Given the description of an element on the screen output the (x, y) to click on. 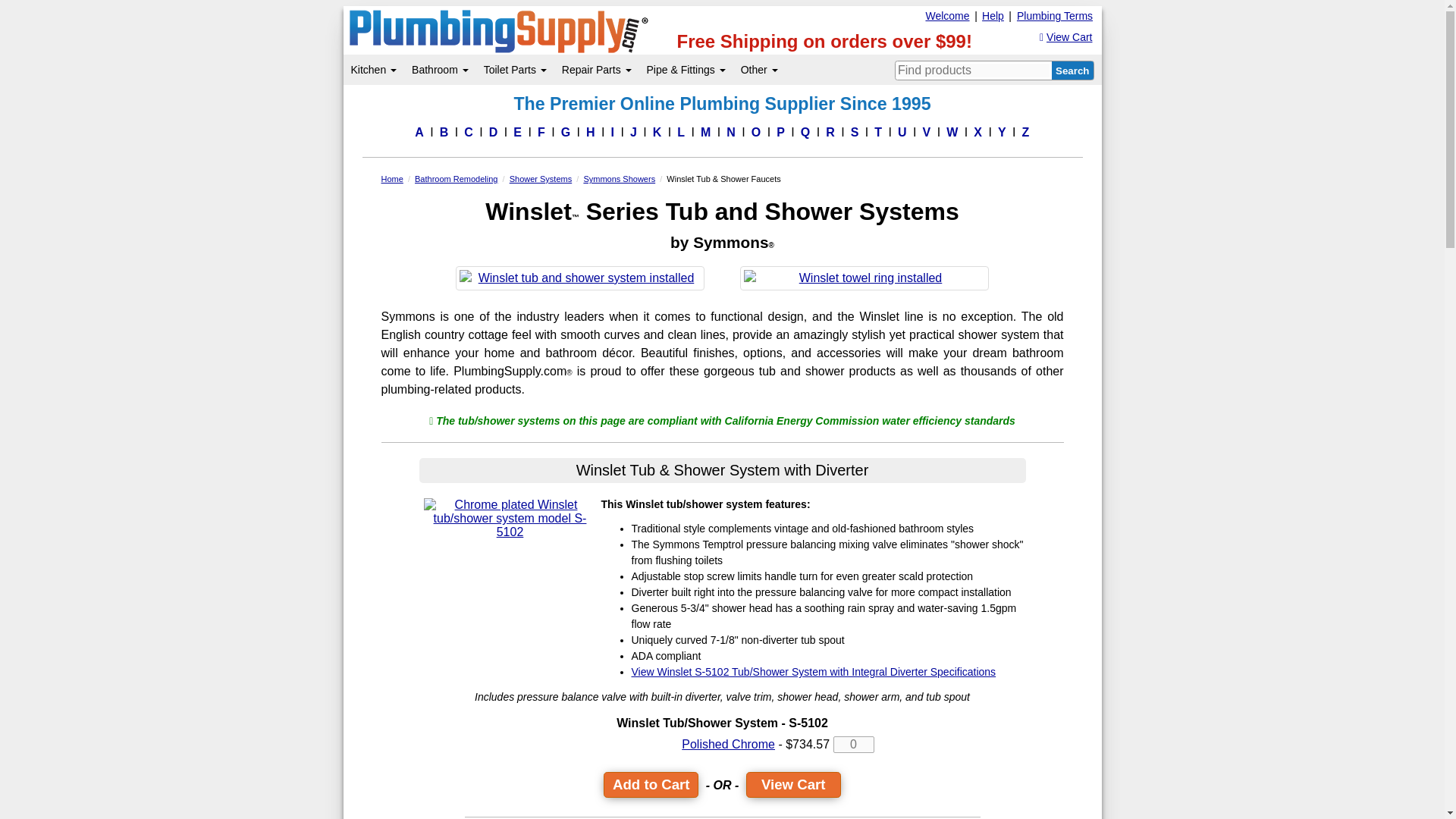
To our home page (479, 31)
Click here to add items to your shopping cart (651, 784)
Add to Cart (651, 784)
